Given the description of an element on the screen output the (x, y) to click on. 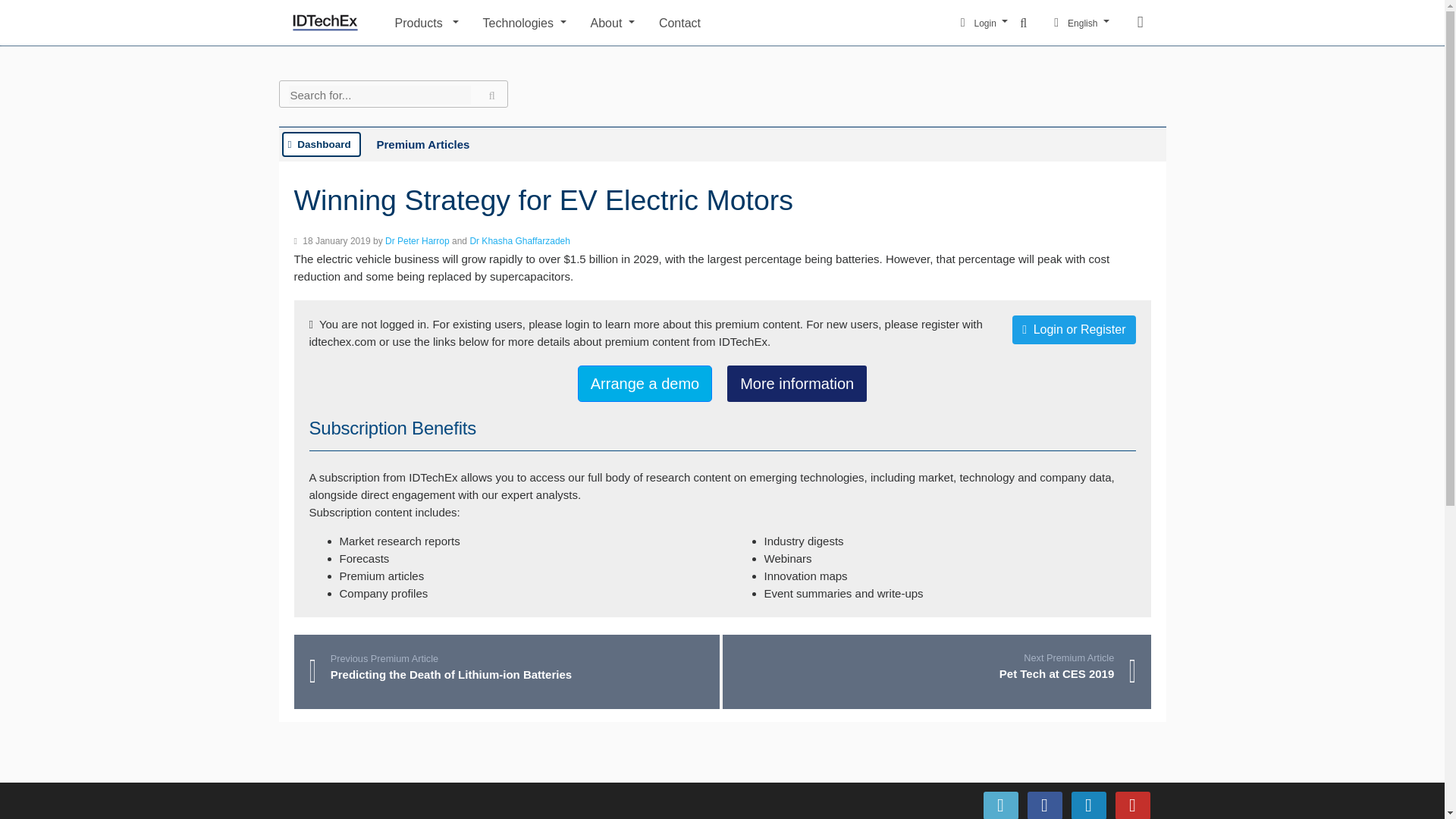
Products   (426, 21)
About  (612, 21)
Contact  (800, 21)
Technologies  (524, 21)
  English  (1081, 22)
  Login  (984, 22)
